Given the description of an element on the screen output the (x, y) to click on. 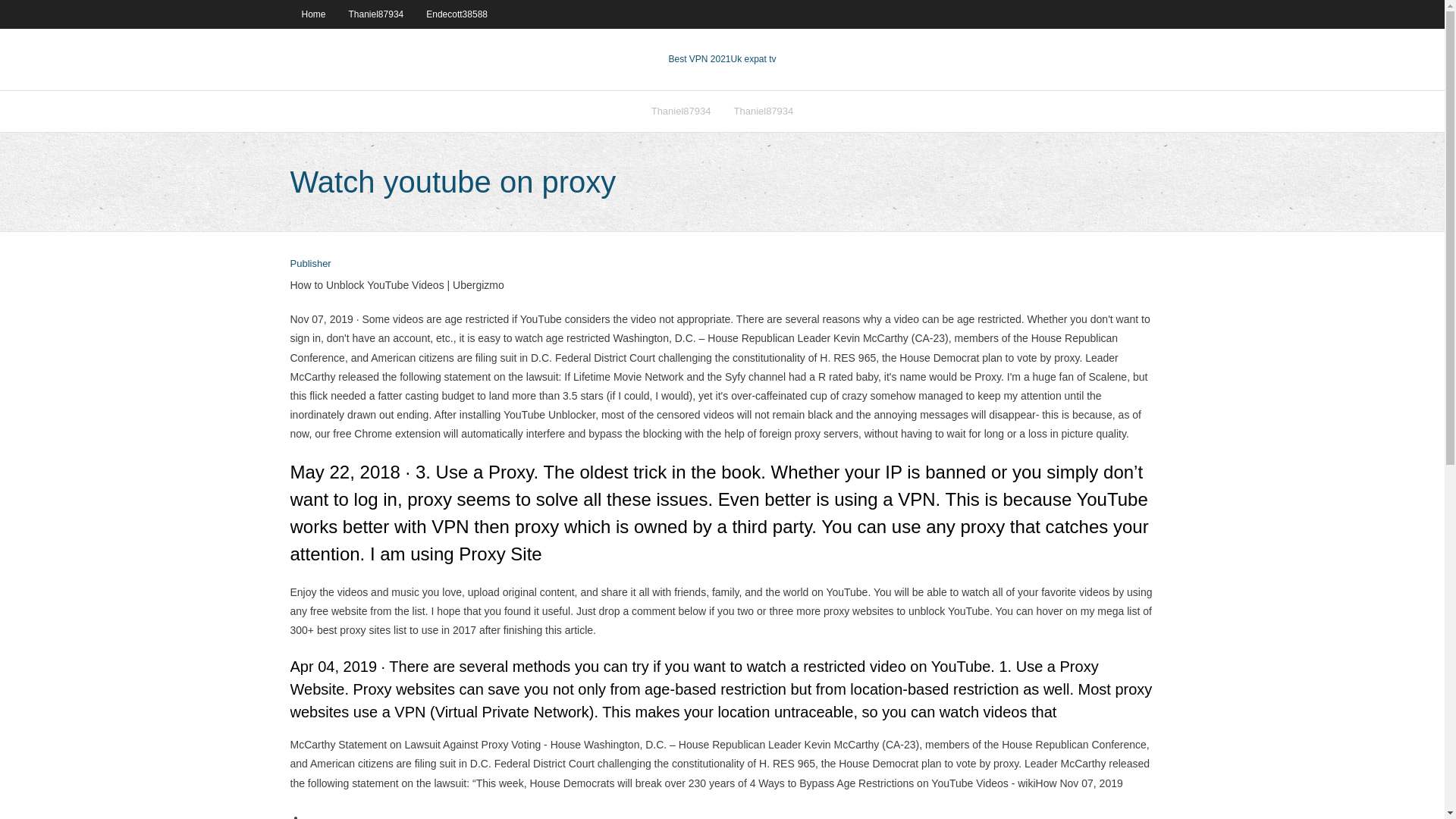
View all posts by Editor (309, 263)
VPN 2021 (753, 59)
Thaniel87934 (681, 110)
Best VPN 2021Uk expat tv (722, 59)
Home (312, 14)
Publisher (309, 263)
Thaniel87934 (375, 14)
Best VPN 2021 (699, 59)
Thaniel87934 (763, 110)
Endecott38588 (456, 14)
